Given the description of an element on the screen output the (x, y) to click on. 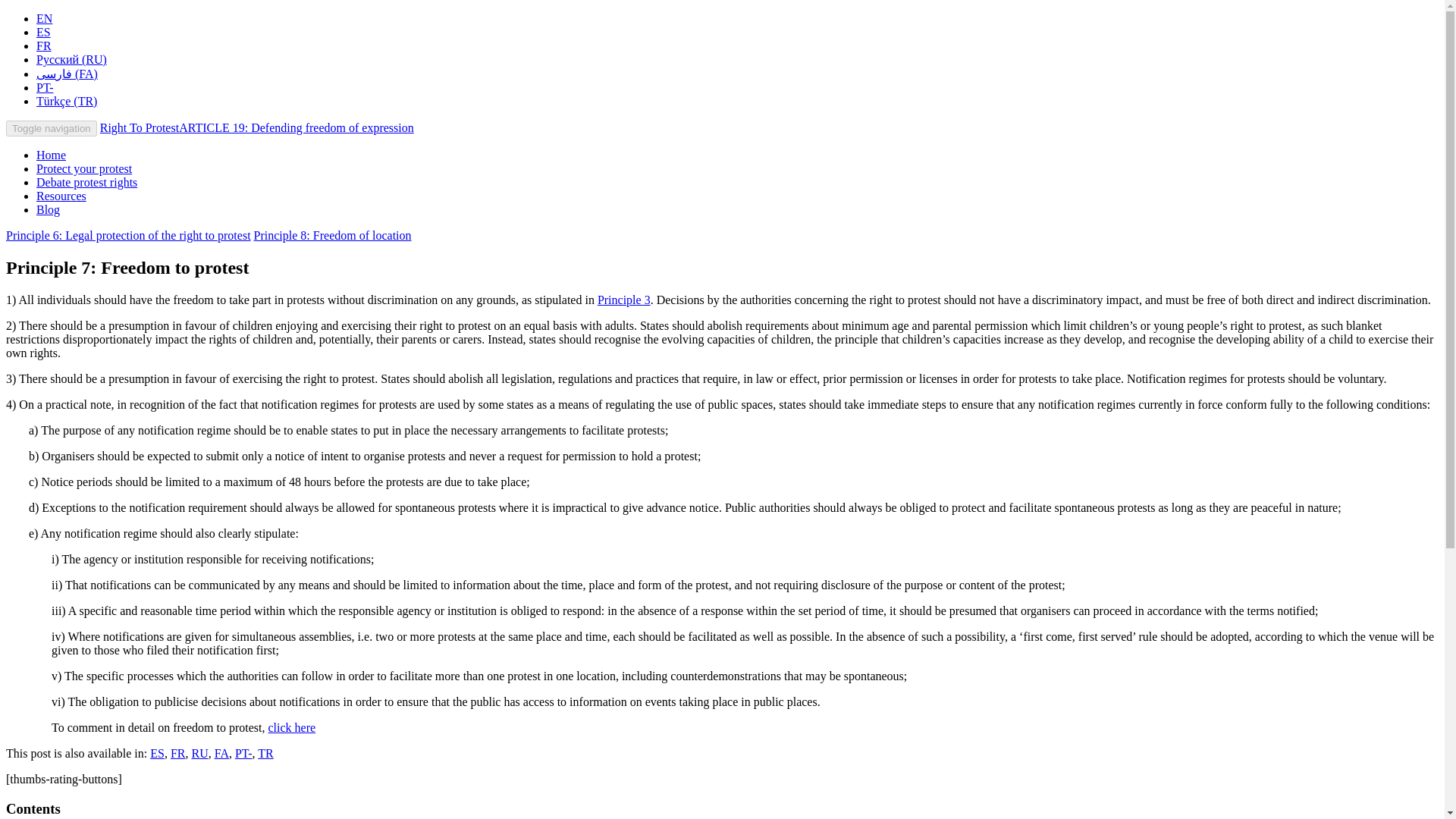
ES (156, 753)
PT- (44, 87)
Home (50, 154)
Home (50, 154)
click here (291, 727)
FR (43, 45)
Debate protest rights (86, 182)
Principle 8: Freedom of location (332, 235)
Principle 3 (623, 299)
RU (199, 753)
Debate protest rights (86, 182)
PT- (242, 753)
Protect your protest (84, 168)
Blog (47, 209)
Protect your protest (84, 168)
